Given the description of an element on the screen output the (x, y) to click on. 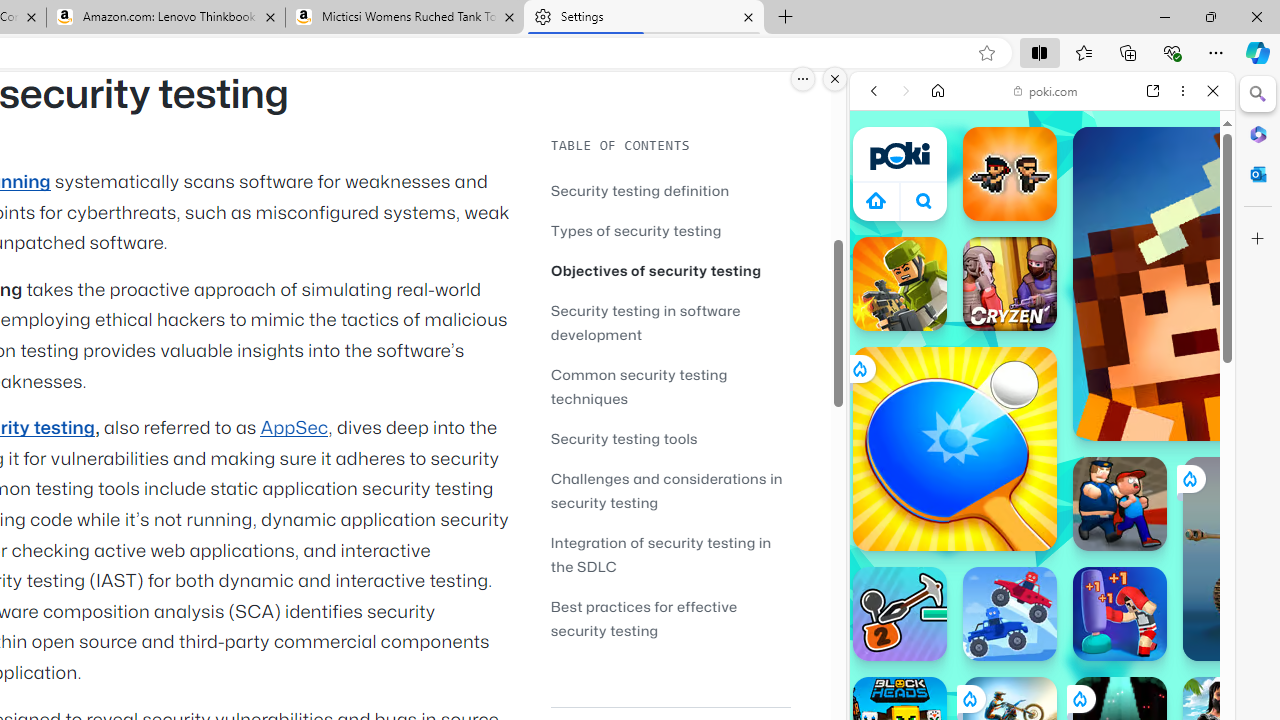
Best practices for effective security testing (670, 618)
Shooting Games (1042, 519)
Cryzen.io Cryzen.io (1009, 283)
Integration of security testing in the SDLC (660, 554)
Class: aprWdaSScyiJf4Jvmsx9 (875, 200)
Show More Io Games (1164, 619)
Battle Wheels Battle Wheels (1009, 613)
Punch Legend Simulator Punch Legend Simulator (1119, 613)
Zombie Rush (1009, 173)
